Given the description of an element on the screen output the (x, y) to click on. 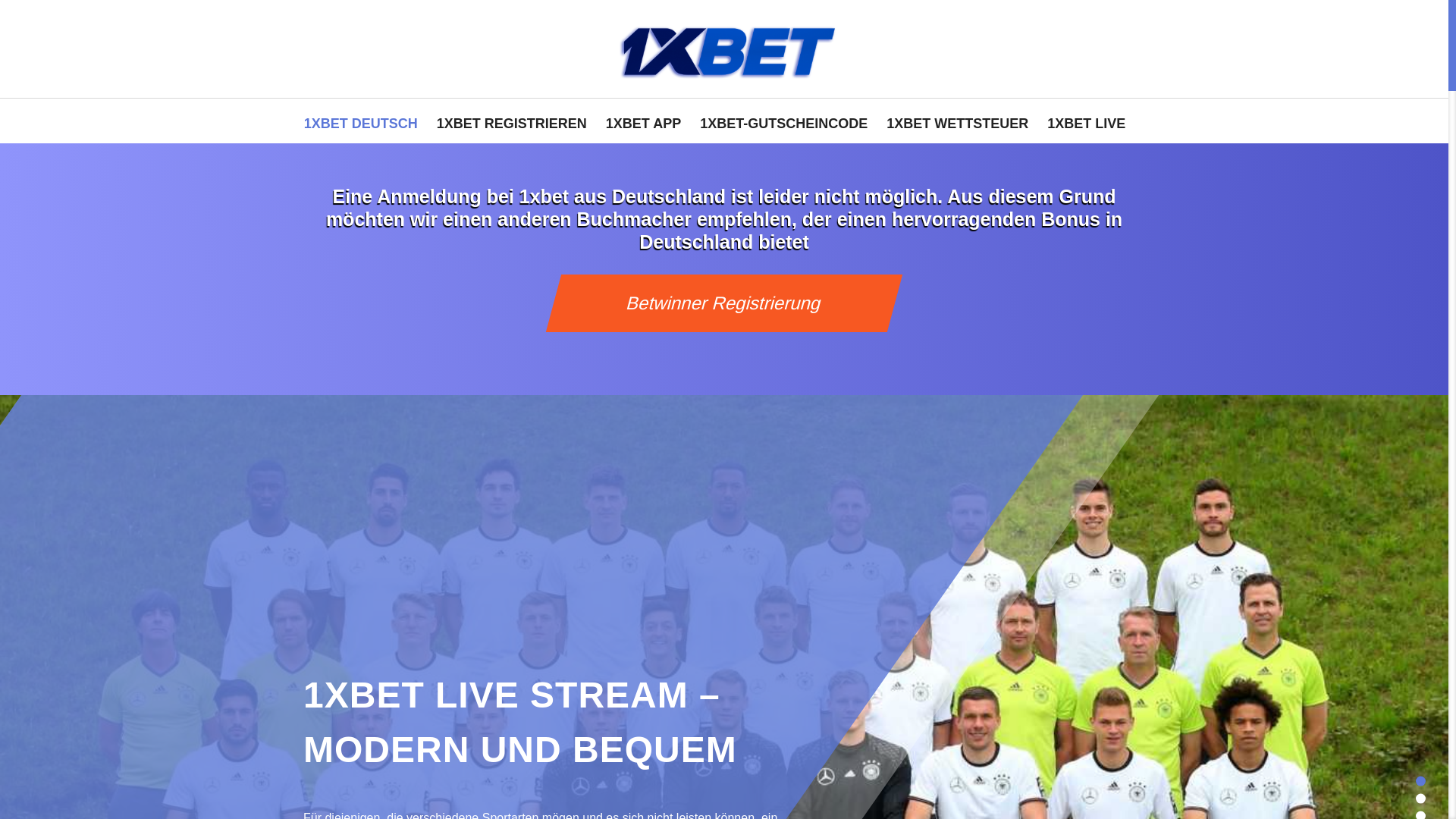
1XBET DEUTSCH Element type: text (360, 120)
1XBET APP Element type: text (642, 120)
1XBET WETTSTEUER Element type: text (957, 120)
1XBET LIVE Element type: text (1086, 120)
Betwinner Registrierung Element type: text (716, 303)
1XBET-GUTSCHEINCODE Element type: text (783, 120)
1XBET REGISTRIEREN Element type: text (511, 120)
